Given the description of an element on the screen output the (x, y) to click on. 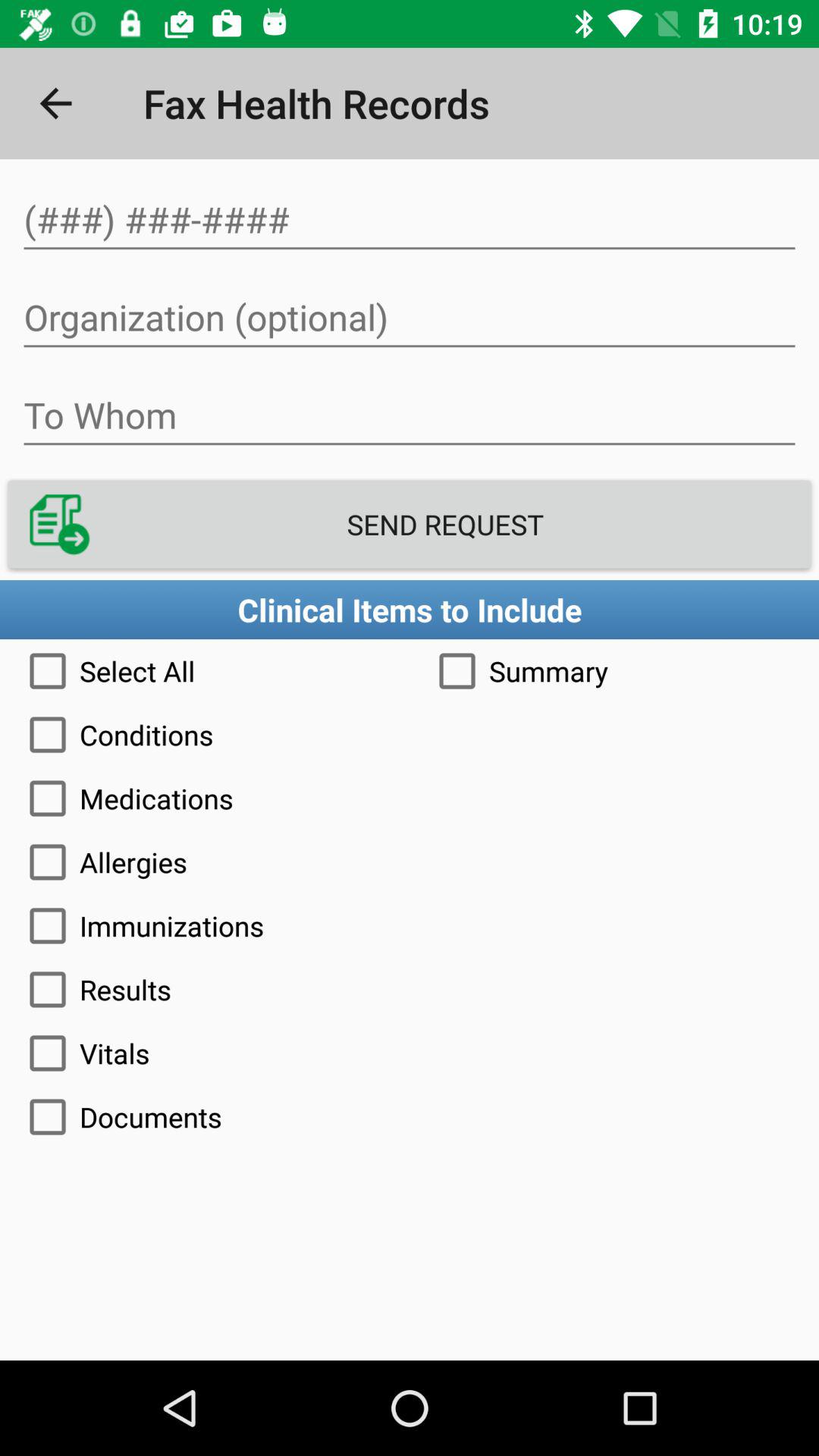
turn off send request (409, 524)
